Given the description of an element on the screen output the (x, y) to click on. 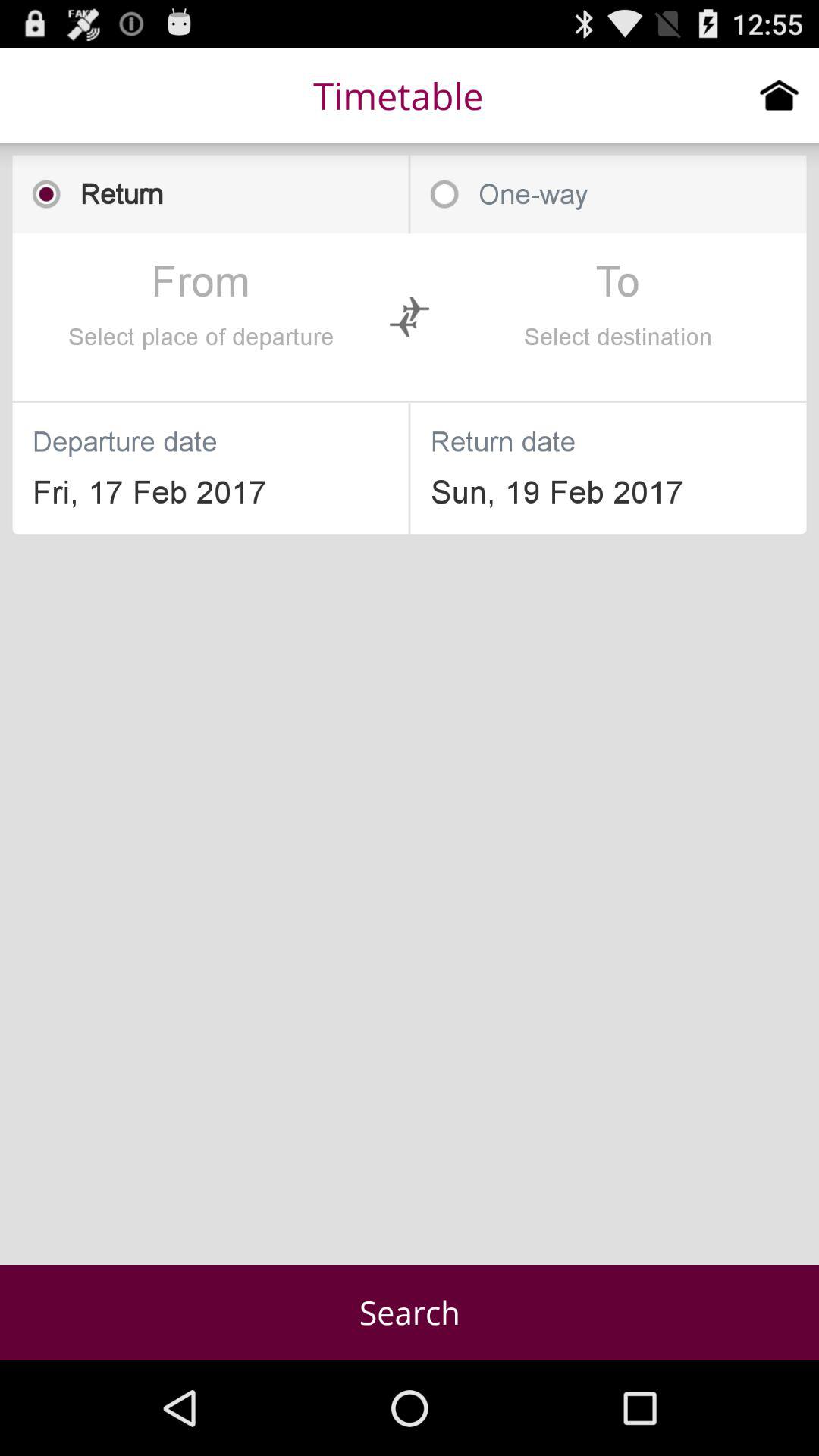
open search icon (409, 1312)
